Given the description of an element on the screen output the (x, y) to click on. 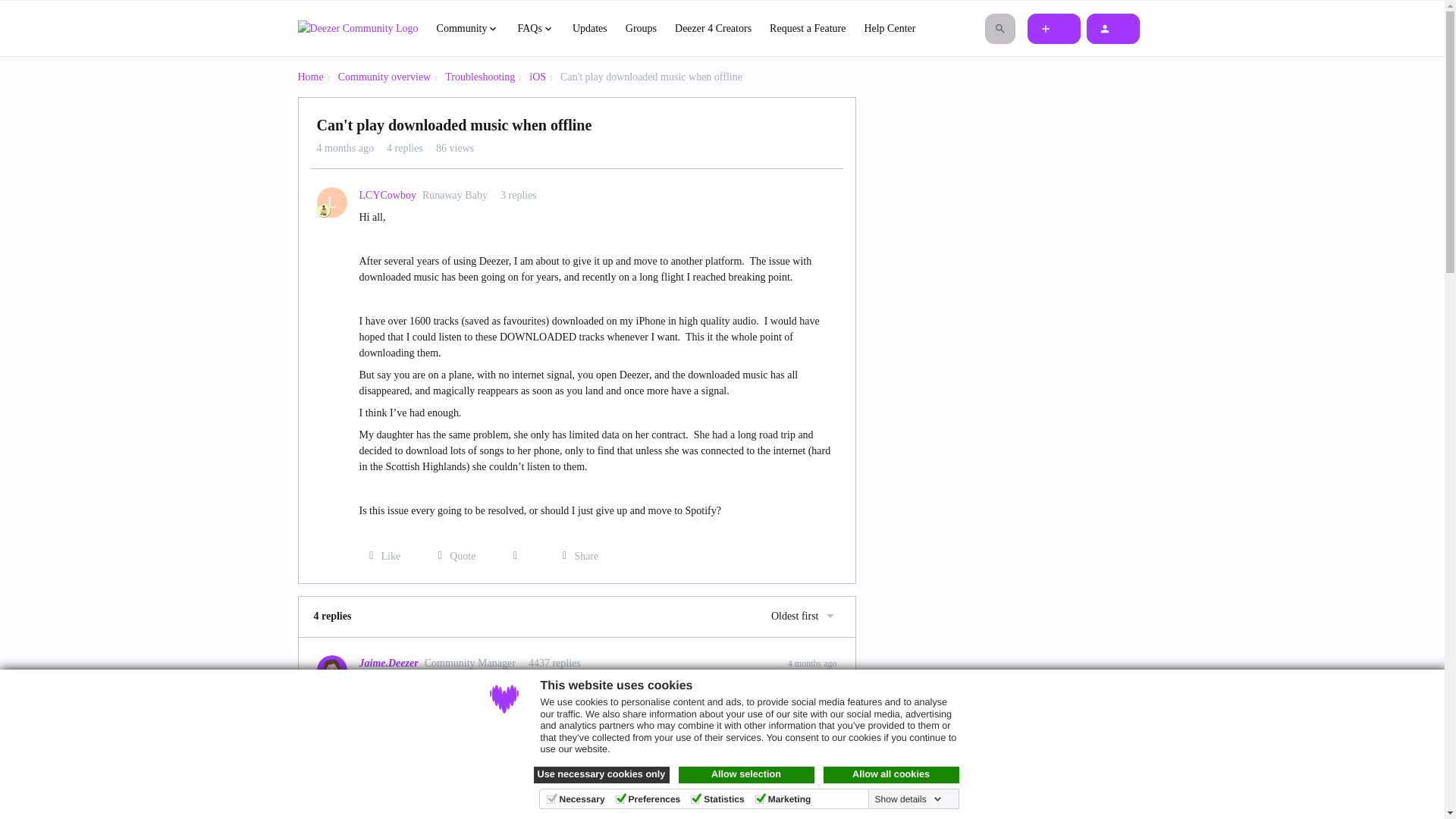
Use necessary cookies only (601, 774)
Show details (908, 799)
Allow selection (745, 774)
Allow all cookies (891, 774)
